Given the description of an element on the screen output the (x, y) to click on. 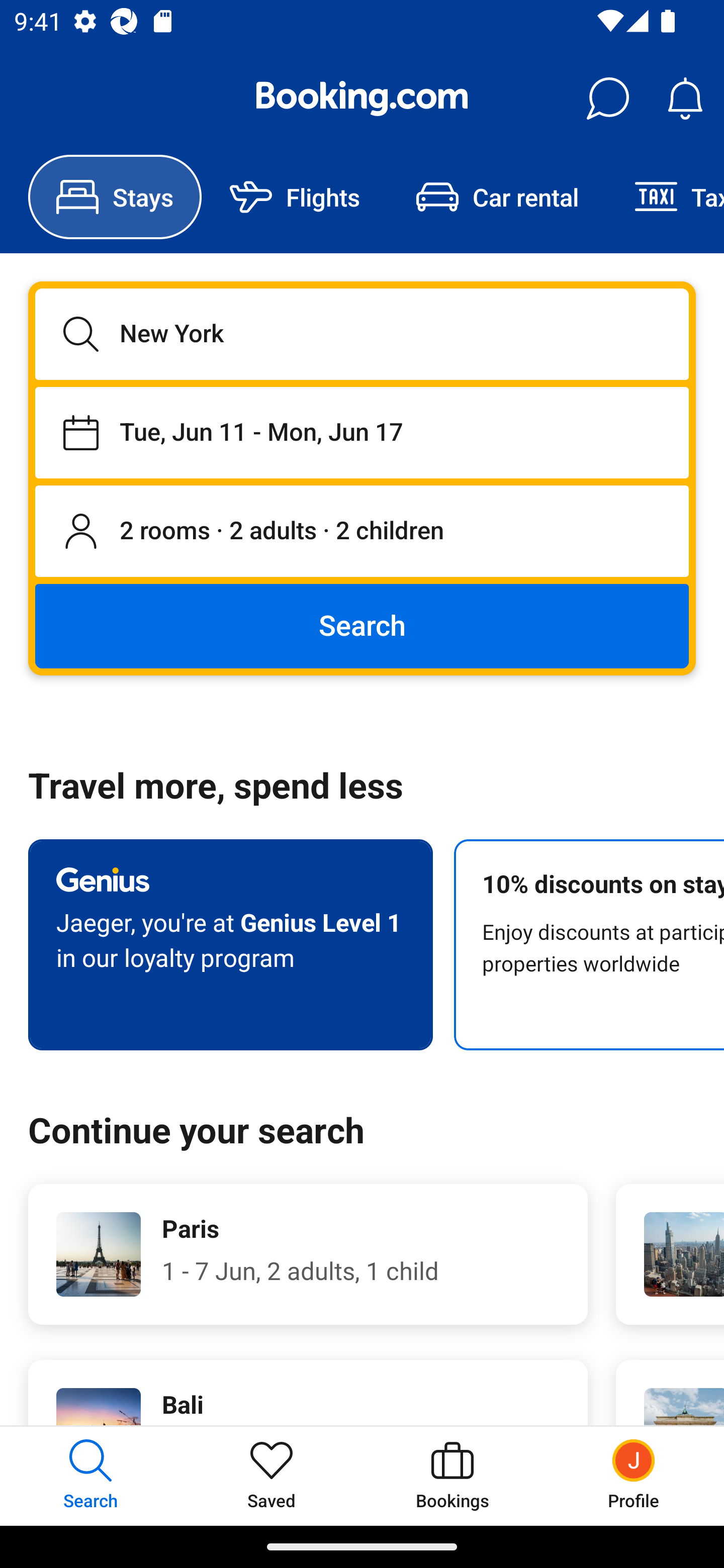
Messages (607, 98)
Notifications (685, 98)
Stays (114, 197)
Flights (294, 197)
Car rental (497, 197)
Taxi (665, 197)
New York (361, 333)
Staying from Tue, Jun 11 until Mon, Jun 17 (361, 432)
2 rooms, 2 adults, 2 children (361, 531)
Search (361, 625)
Paris 1 - 7 Jun, 2 adults, 1 child (307, 1253)
Saved (271, 1475)
Bookings (452, 1475)
Profile (633, 1475)
